Given the description of an element on the screen output the (x, y) to click on. 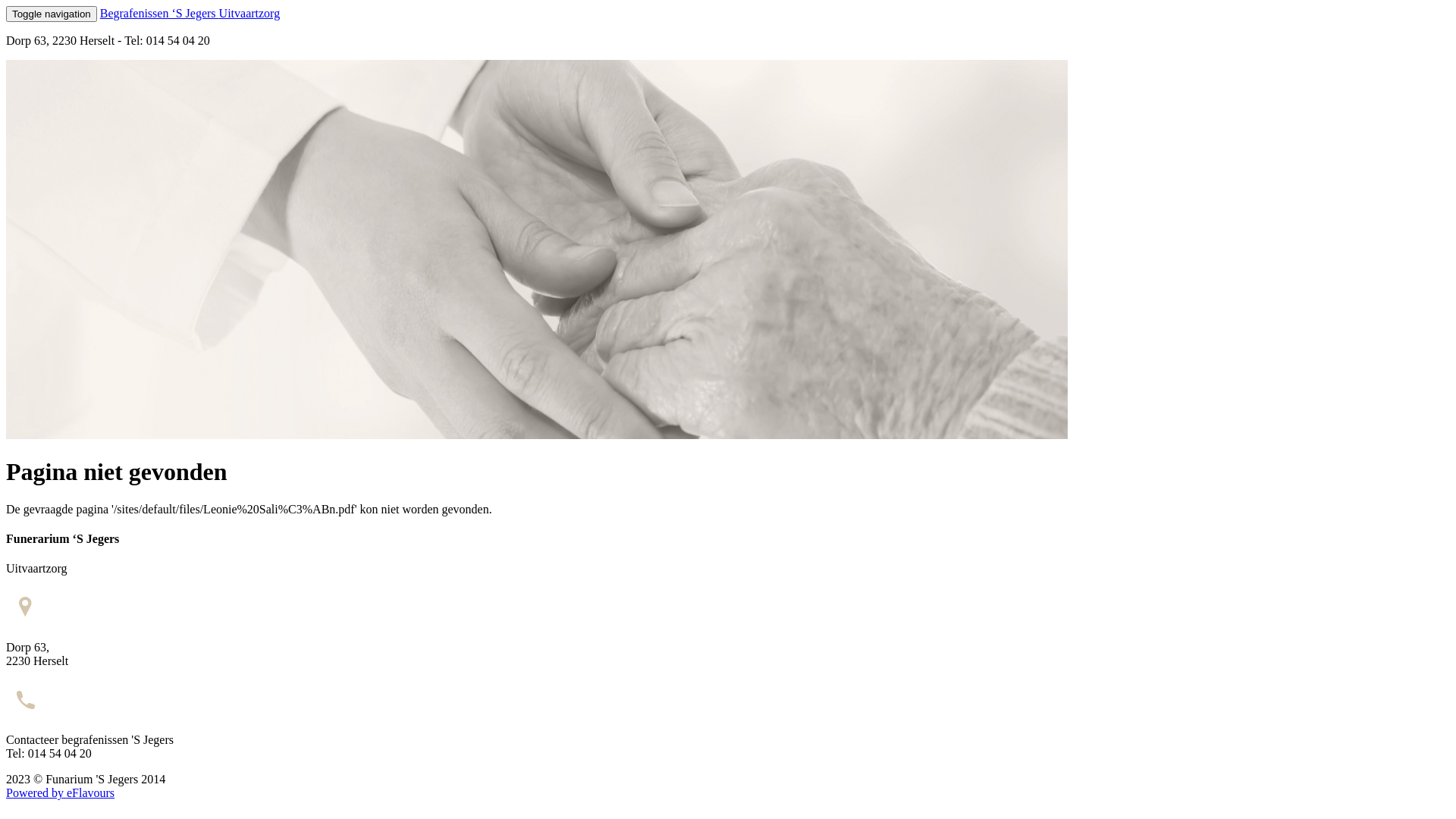
Powered by eFlavours Element type: text (60, 792)
Skip to main content Element type: text (56, 6)
Toggle navigation Element type: text (51, 13)
